Given the description of an element on the screen output the (x, y) to click on. 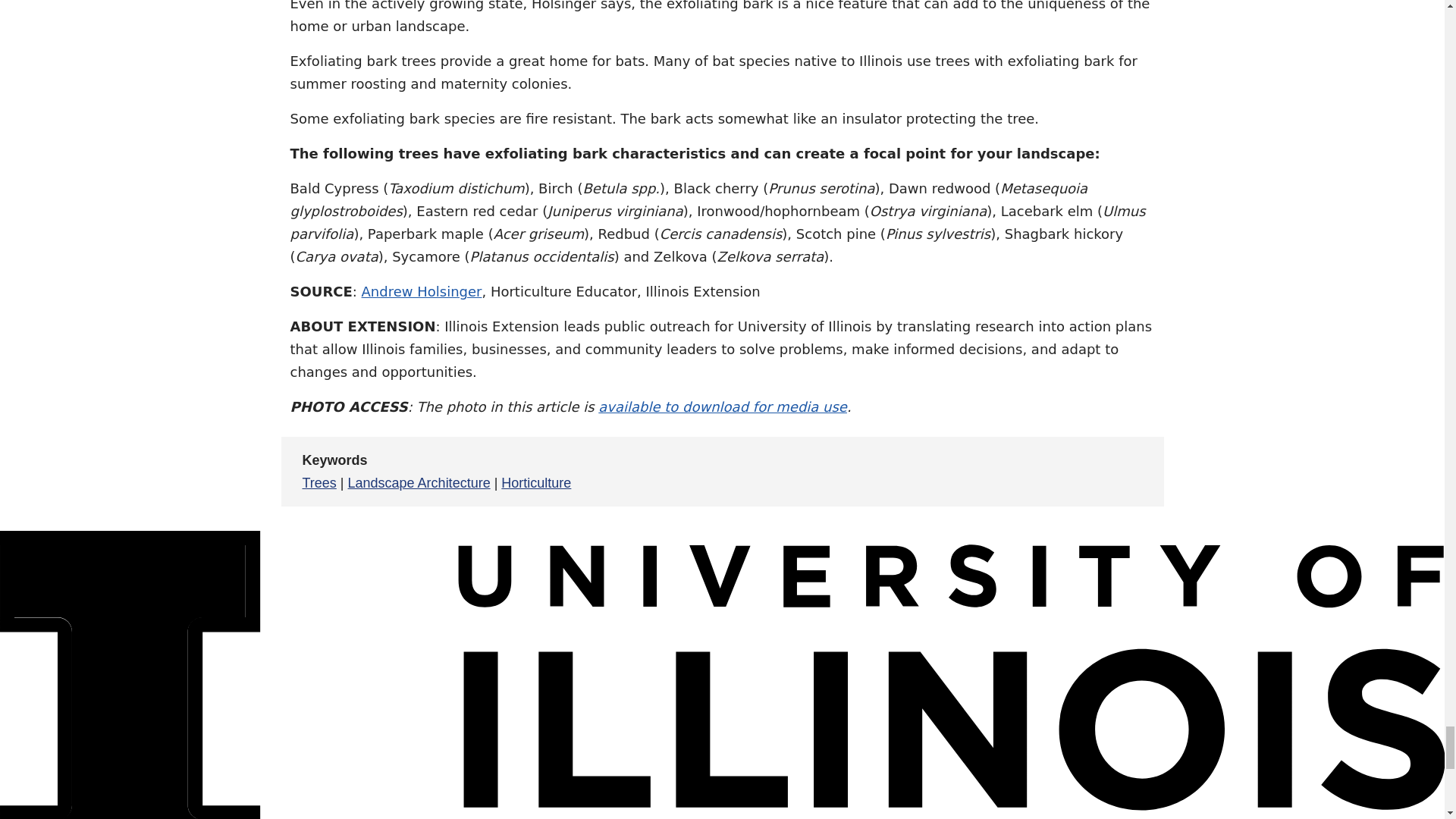
Share to Linkedin (1063, 471)
Share to Email (1099, 471)
Share to X (1026, 471)
Share to Facebook (990, 471)
